Given the description of an element on the screen output the (x, y) to click on. 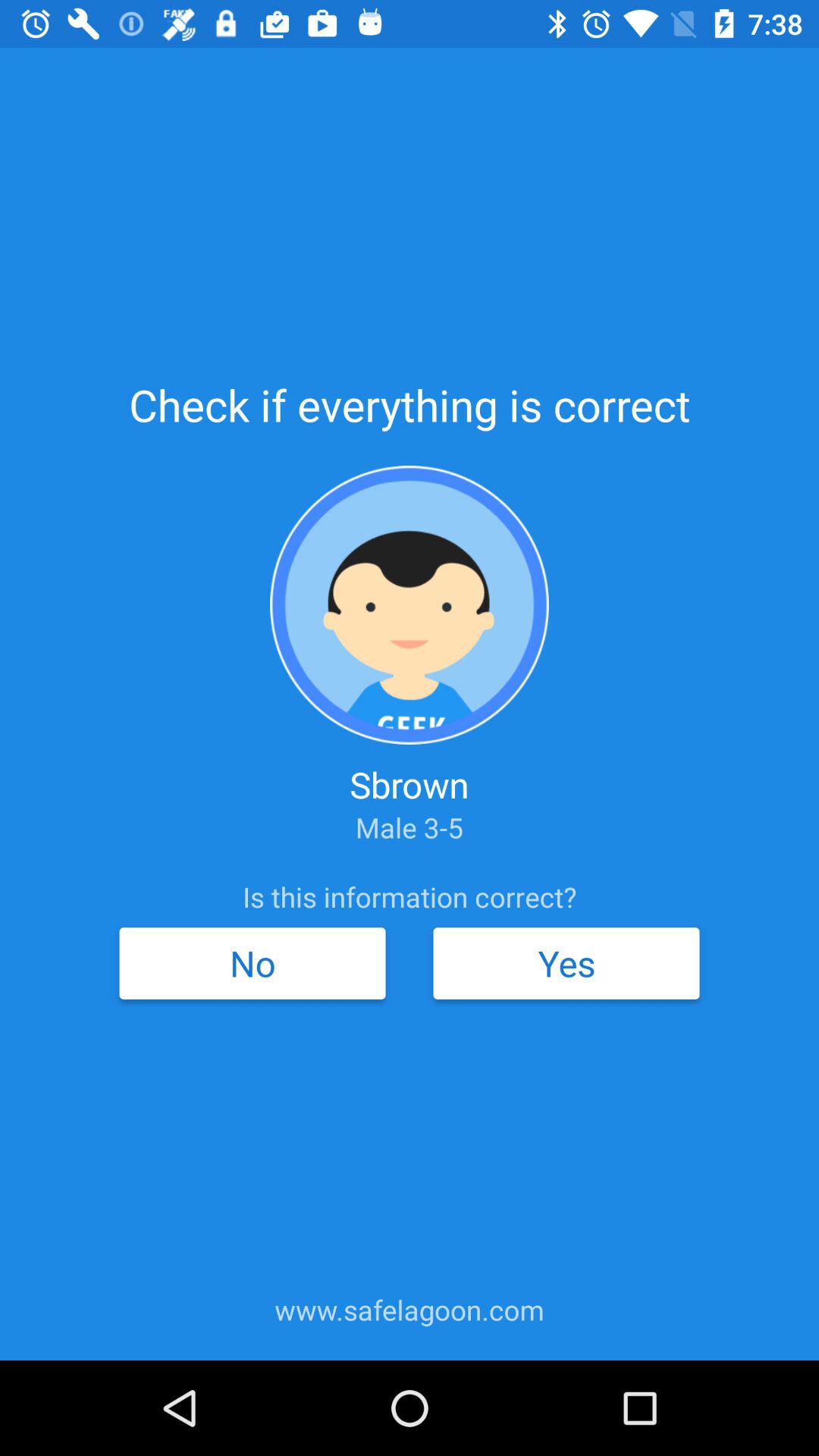
choose the yes icon (566, 963)
